Given the description of an element on the screen output the (x, y) to click on. 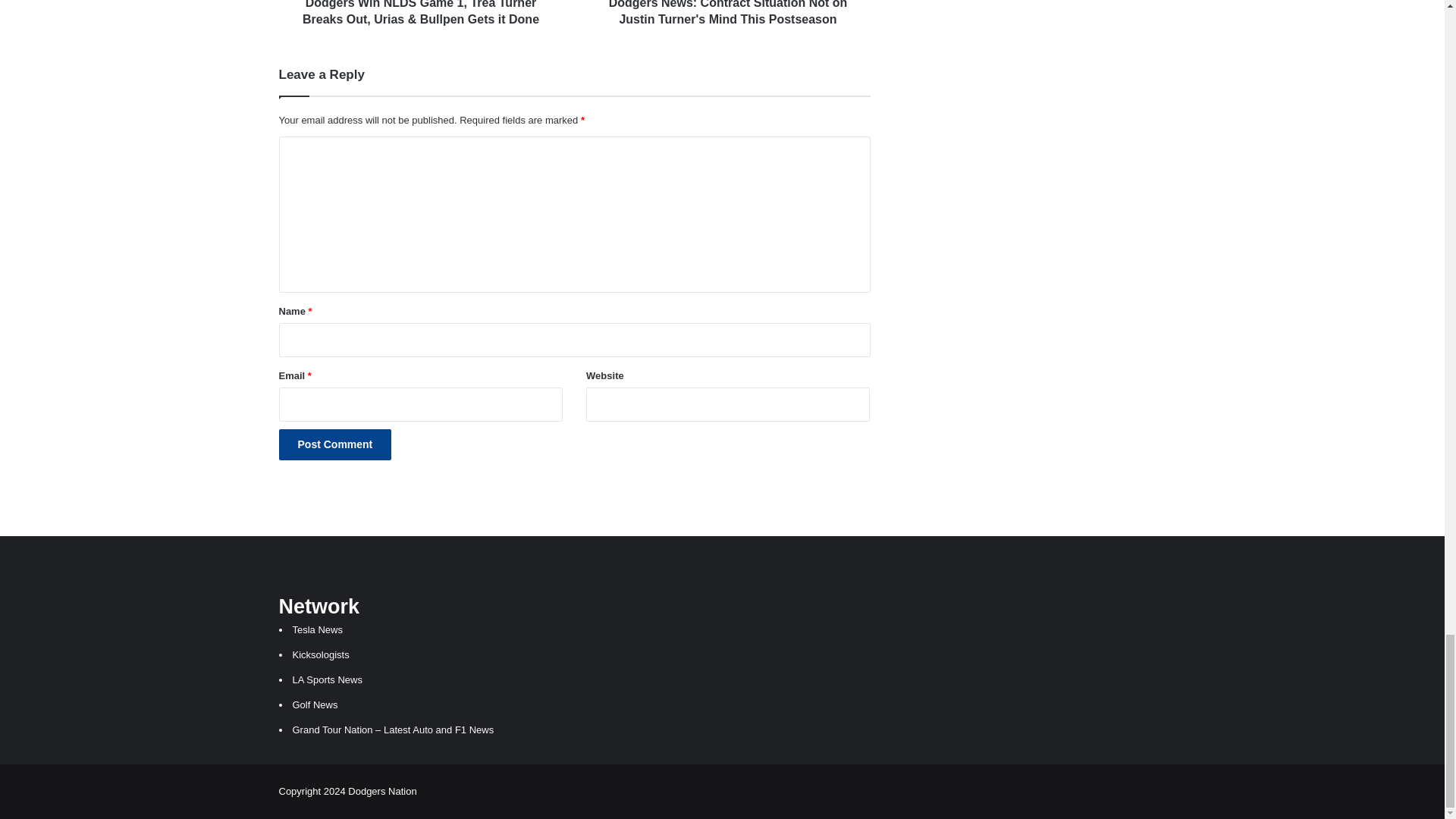
Post Comment (335, 444)
